Given the description of an element on the screen output the (x, y) to click on. 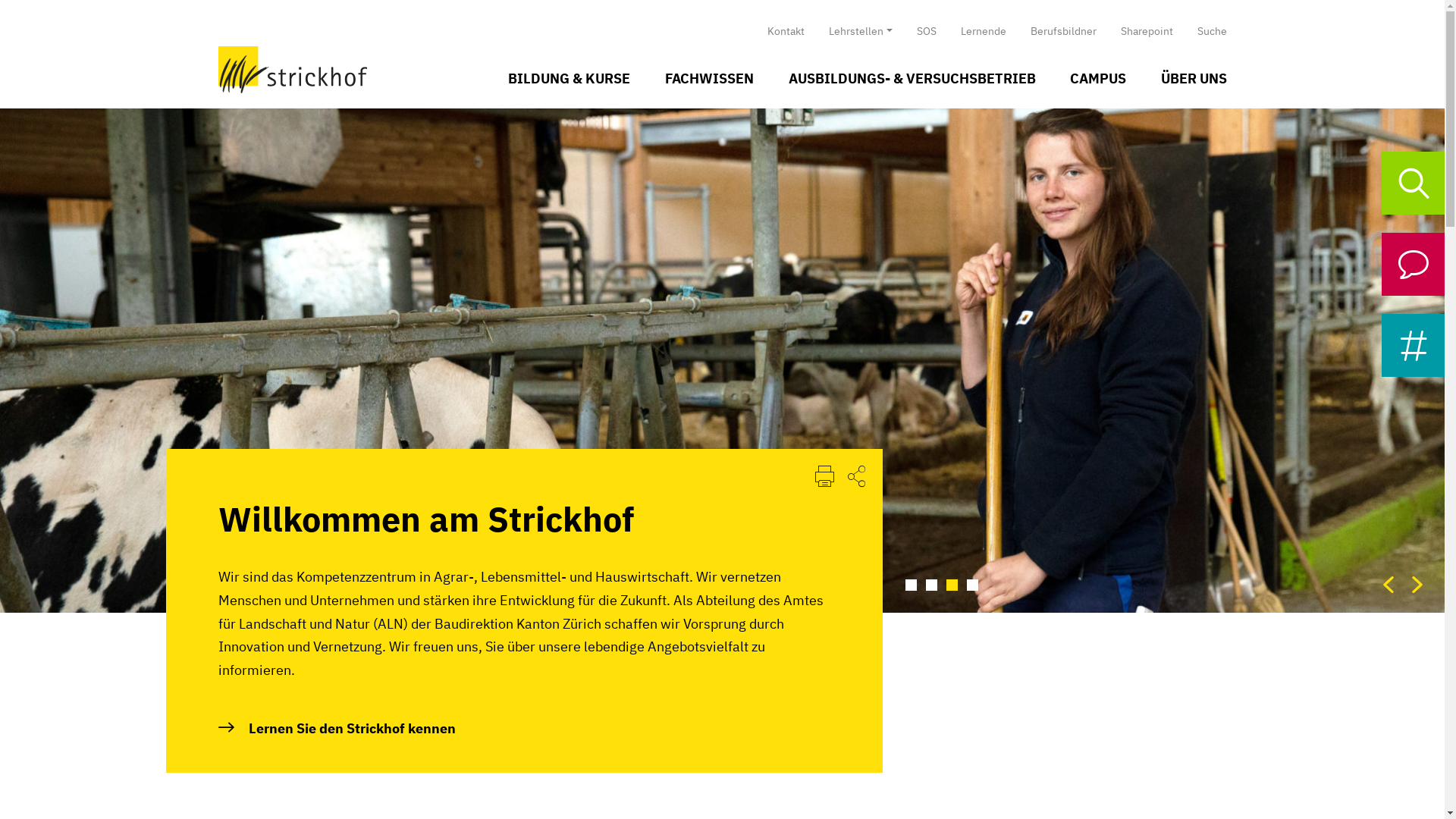
Berufsbildner Element type: text (1062, 30)
SOS Element type: text (925, 30)
FACHWISSEN Element type: text (708, 78)
AUSBILDUNGS- & VERSUCHSBETRIEB Element type: text (911, 78)
Lehrstellen Element type: text (860, 30)
CAMPUS Element type: text (1098, 78)
Lernen Sie den Strickhof kennen Element type: text (524, 728)
Sharepoint Element type: text (1146, 30)
Lernende Element type: text (982, 30)
Suche Element type: text (1205, 30)
BILDUNG & KURSE Element type: text (569, 78)
Kontakt Element type: text (785, 30)
